Given the description of an element on the screen output the (x, y) to click on. 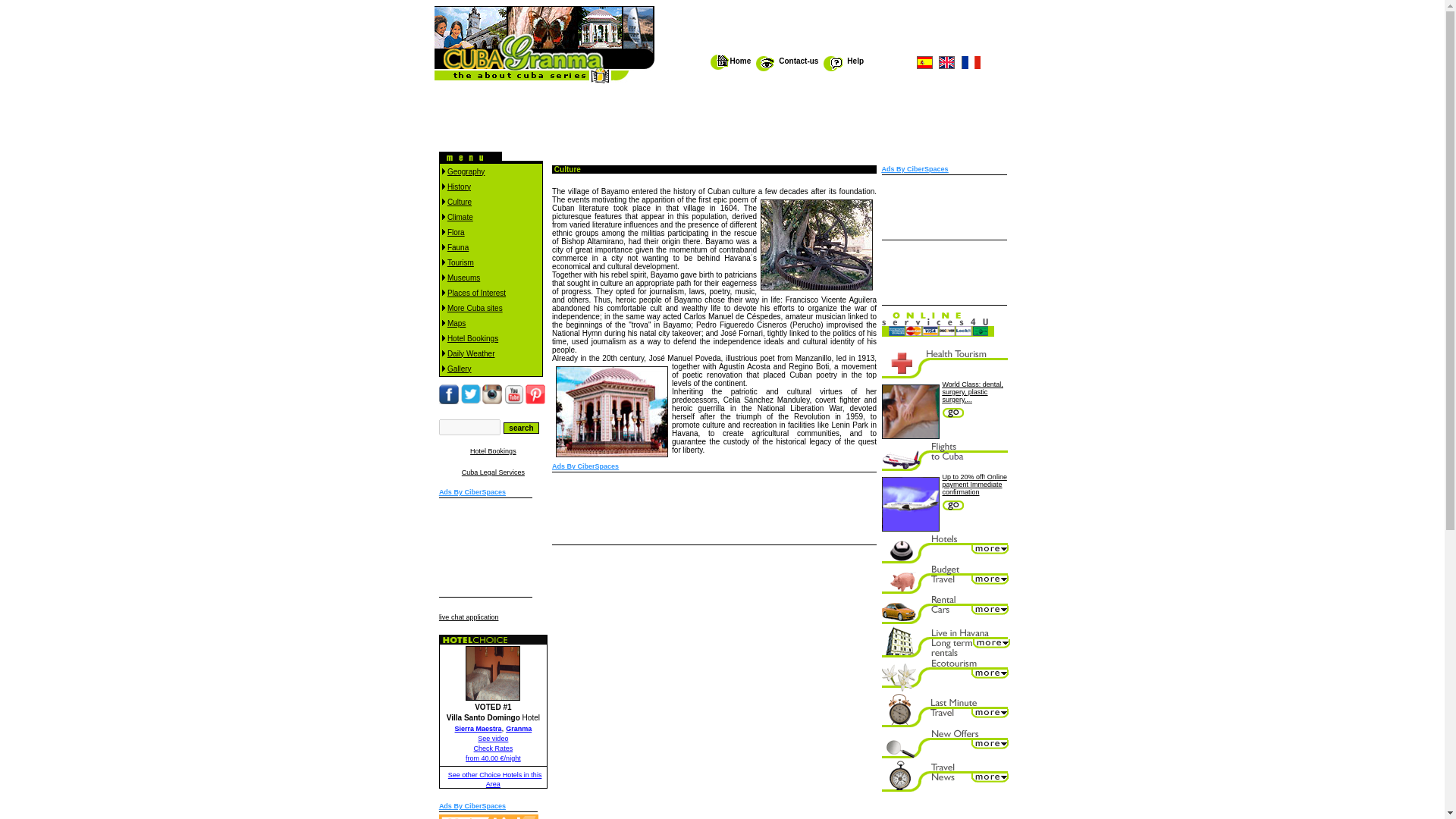
Geography (465, 171)
search (520, 428)
Check Rates (493, 748)
pinterest (534, 401)
Museums (463, 276)
Maps (455, 322)
twitter (472, 401)
Cuba Legal Services (492, 471)
live chat application (469, 616)
facebook (450, 401)
Tourism (460, 261)
See video (492, 738)
Gallery (458, 367)
Hotel Bookings (471, 337)
Places of Interest (475, 292)
